Given the description of an element on the screen output the (x, y) to click on. 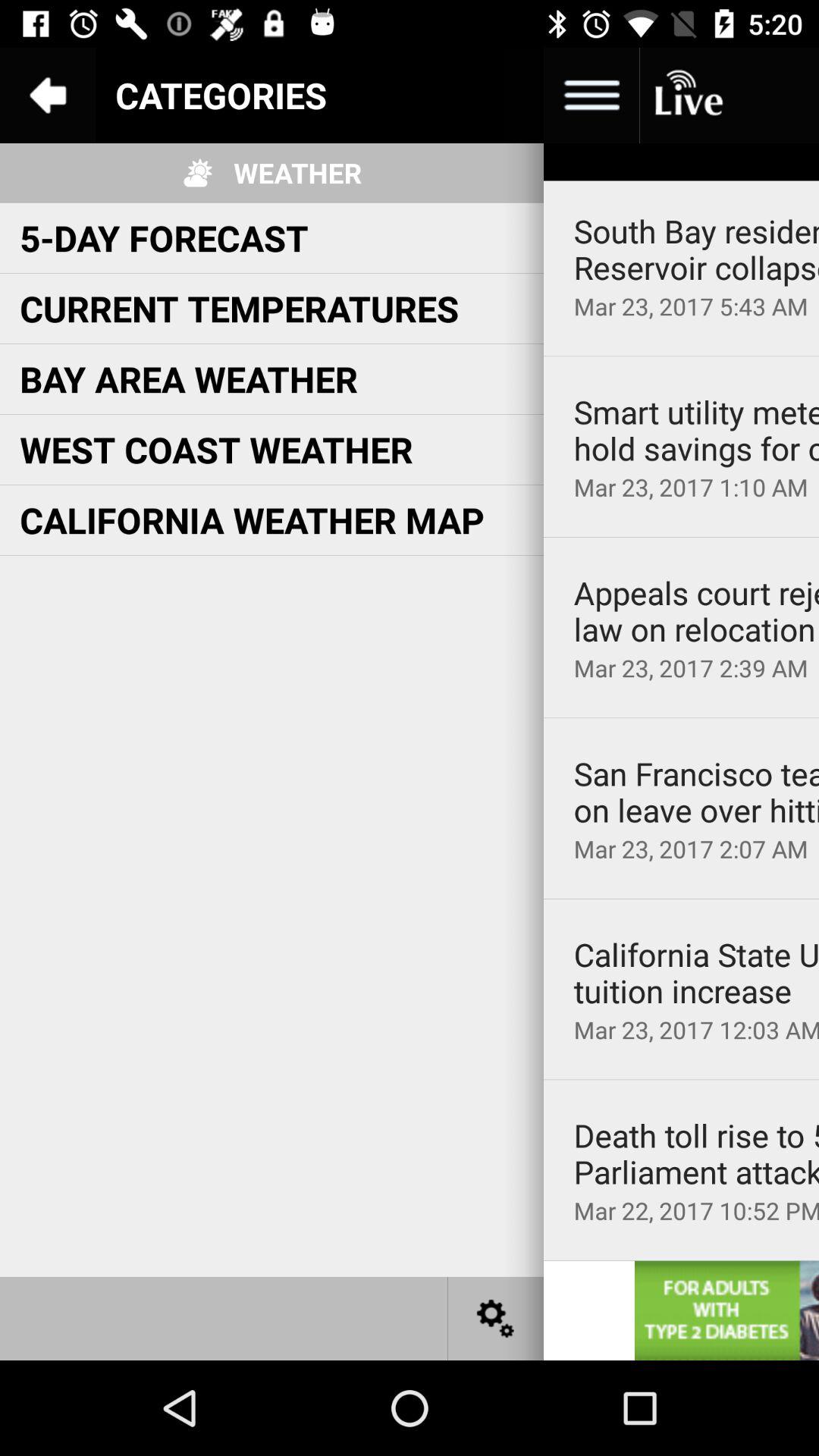
click on the more image option (591, 95)
select the icon which is left side of the weather (197, 173)
